Given the description of an element on the screen output the (x, y) to click on. 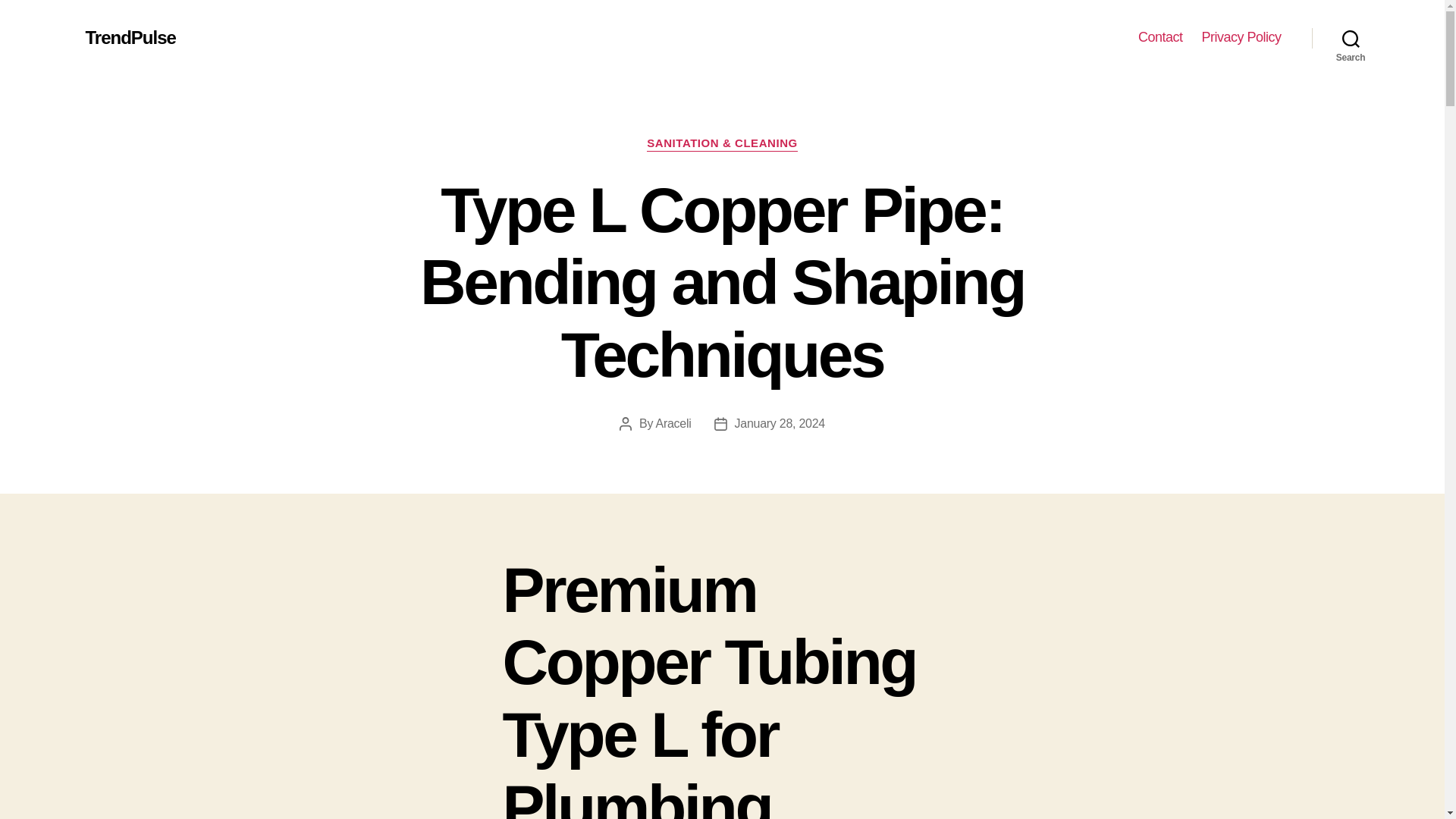
January 28, 2024 (780, 422)
Contact (1160, 37)
Araceli (673, 422)
Privacy Policy (1241, 37)
TrendPulse (129, 37)
Search (1350, 37)
